Given the description of an element on the screen output the (x, y) to click on. 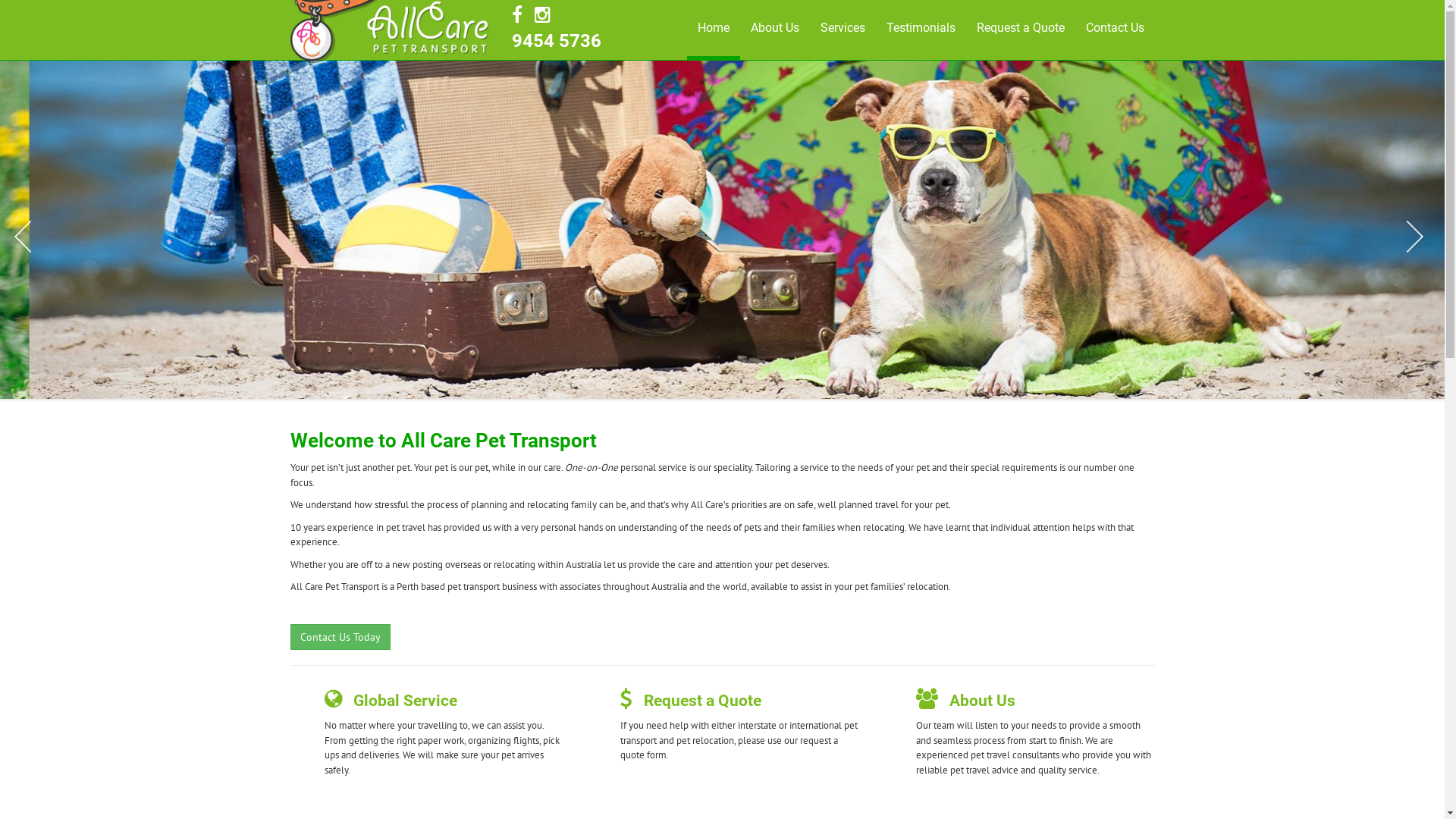
Contact Us Element type: text (1114, 28)
Request a Quote Element type: text (1020, 28)
Home Element type: text (713, 30)
About Us Element type: text (774, 28)
9454 5736 Element type: text (556, 40)
Next Element type: text (1421, 236)
About Us Element type: text (982, 700)
Services Element type: text (842, 28)
Contact Us Today Element type: text (339, 635)
Global Service Element type: text (405, 700)
Prev Element type: text (22, 236)
Testimonials Element type: text (920, 28)
Request a Quote Element type: text (701, 700)
